Given the description of an element on the screen output the (x, y) to click on. 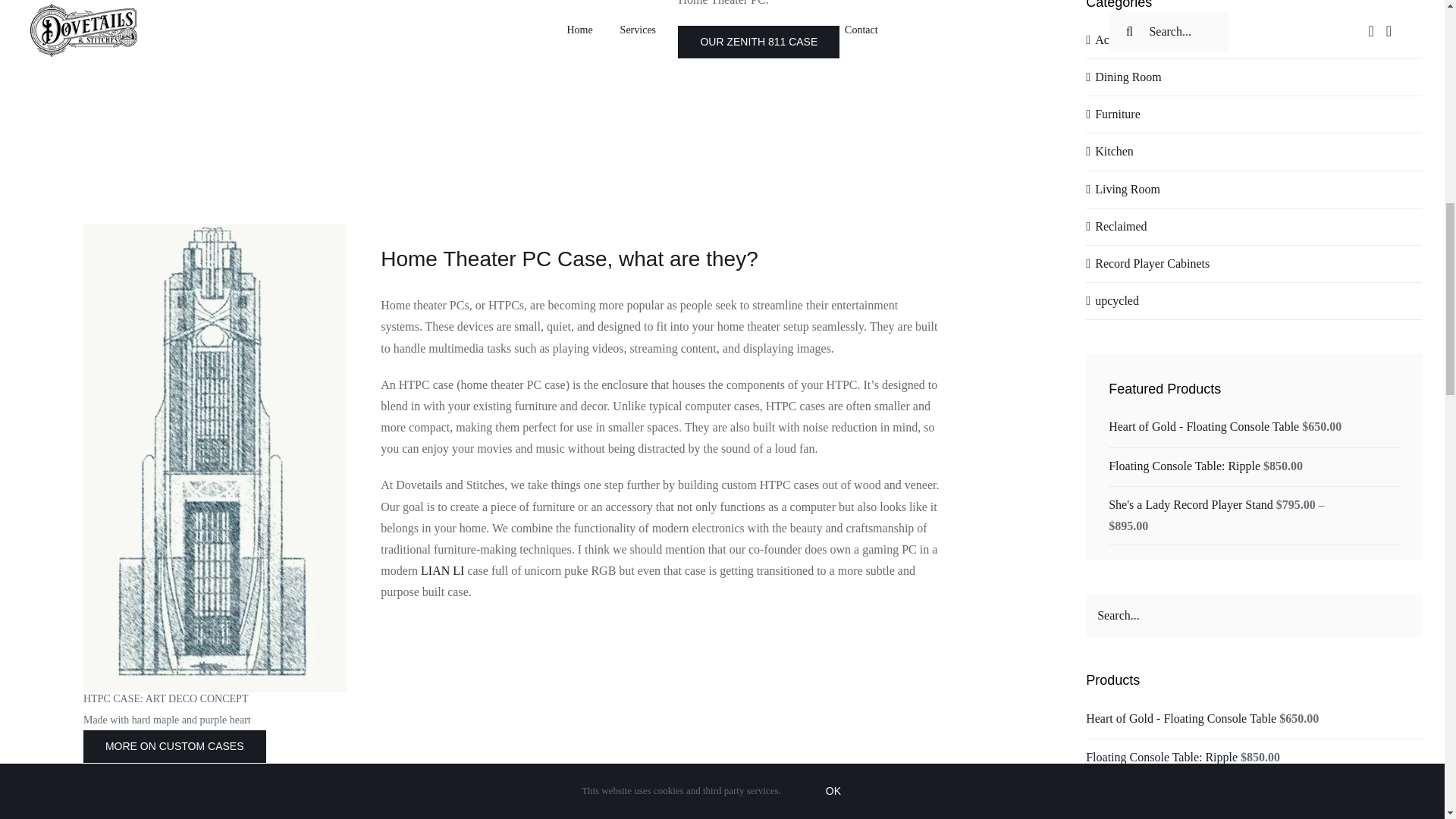
Furniture (1253, 114)
Kitchen (1253, 151)
OUR ZENITH 811 CASE (759, 41)
Dining Room (1253, 76)
LIAN LI (442, 570)
Accessories (1253, 39)
MORE ON CUSTOM CASES (174, 746)
